Given the description of an element on the screen output the (x, y) to click on. 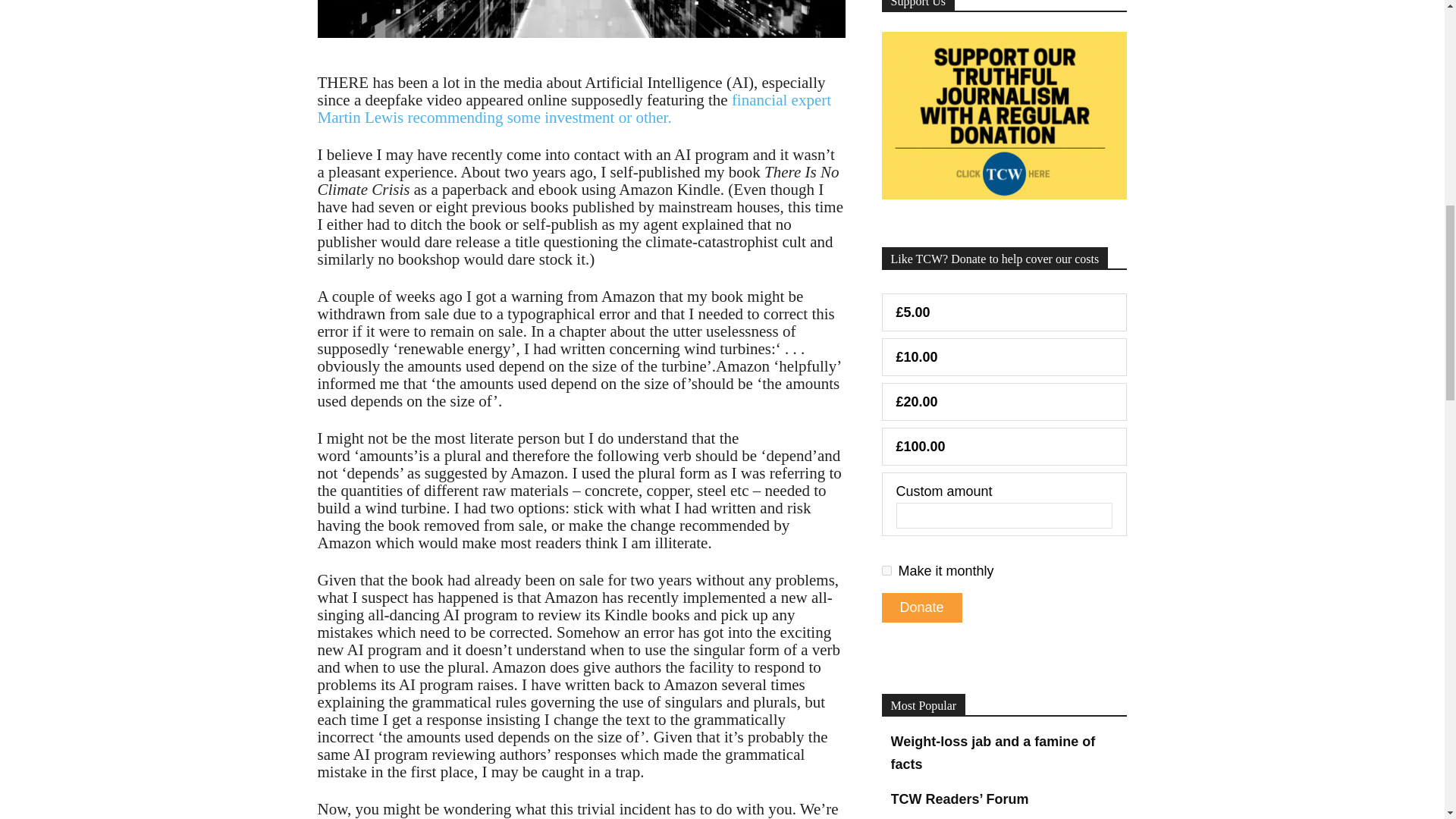
month (885, 570)
